Given the description of an element on the screen output the (x, y) to click on. 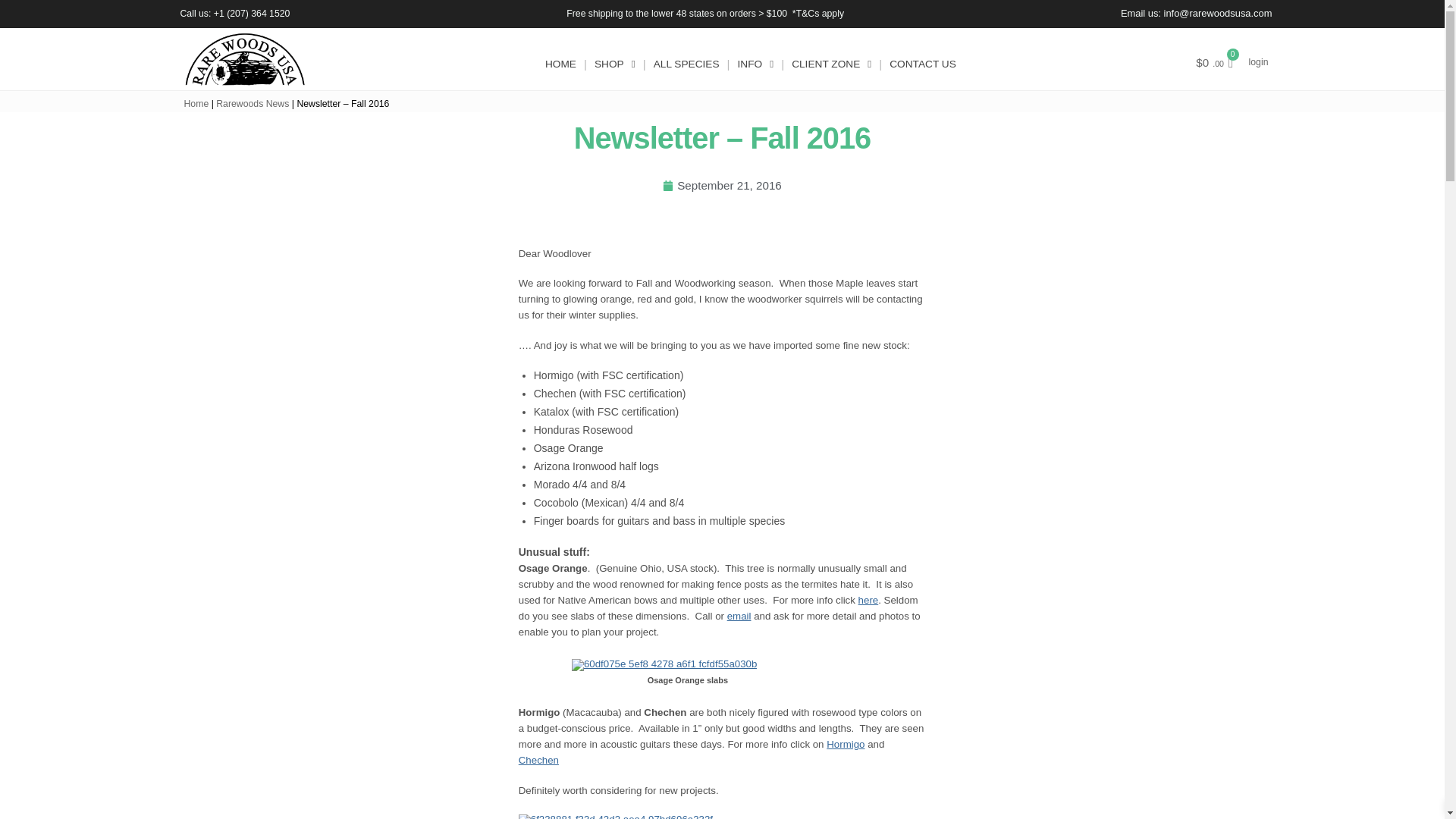
Newsletter - Fall 2016 2 (625, 816)
HOME (560, 64)
SHOP (614, 64)
View your shopping cart (1214, 63)
Newsletter - Fall 2016 1 (664, 664)
